Given the description of an element on the screen output the (x, y) to click on. 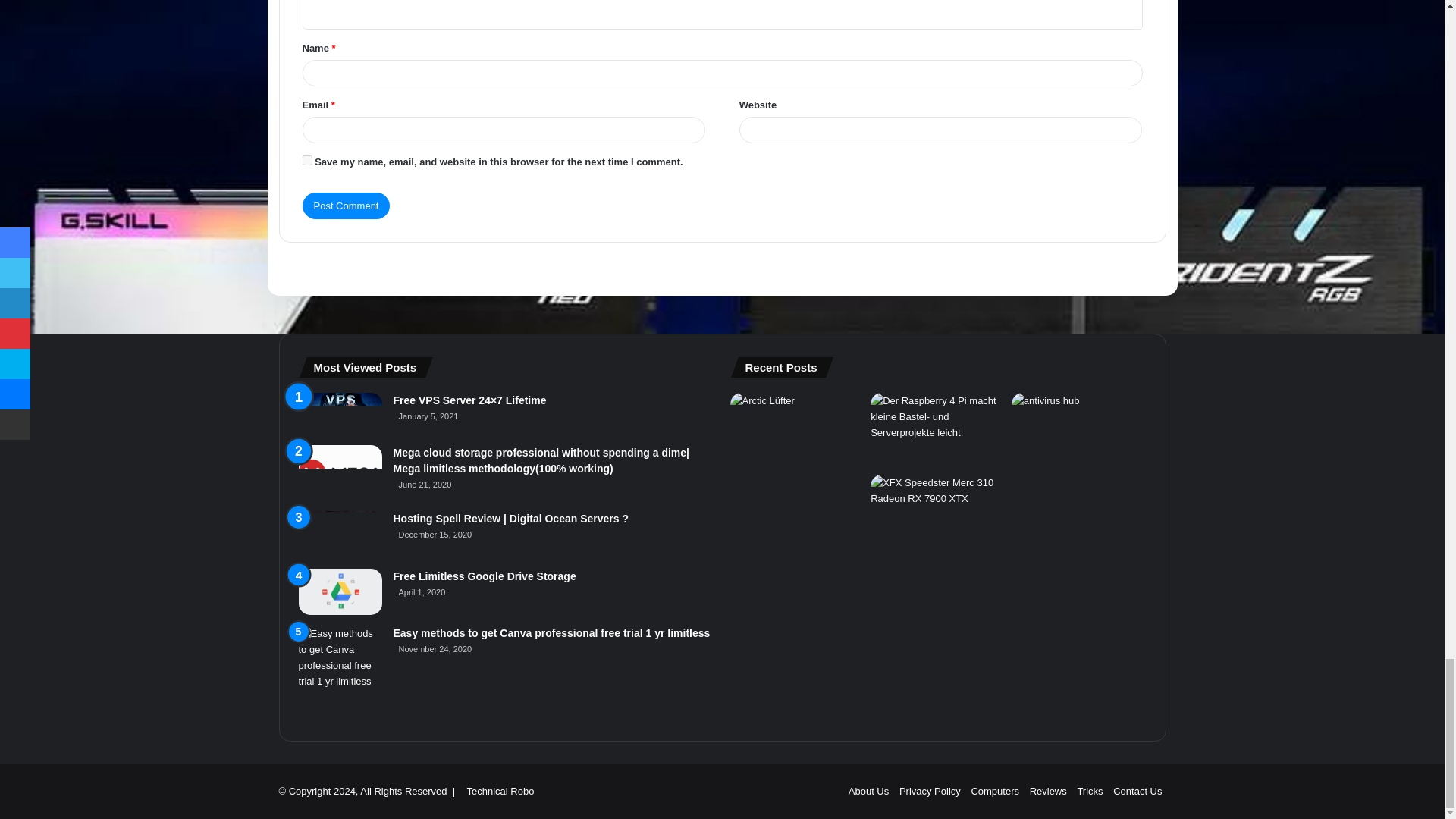
Post Comment (345, 205)
yes (306, 160)
